Given the description of an element on the screen output the (x, y) to click on. 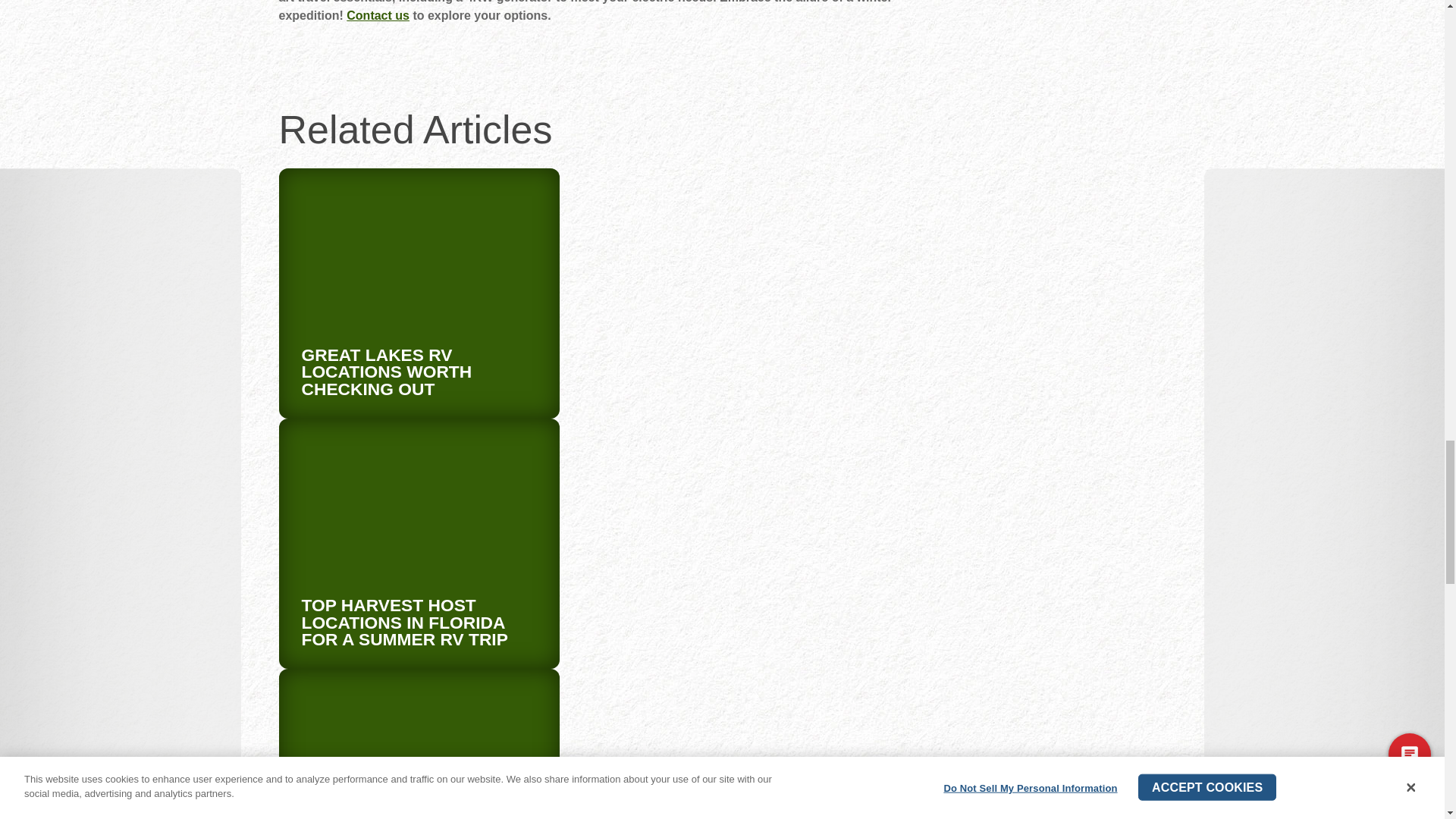
GREAT LAKES RV LOCATIONS WORTH CHECKING OUT (386, 371)
Contact us (377, 15)
